Given the description of an element on the screen output the (x, y) to click on. 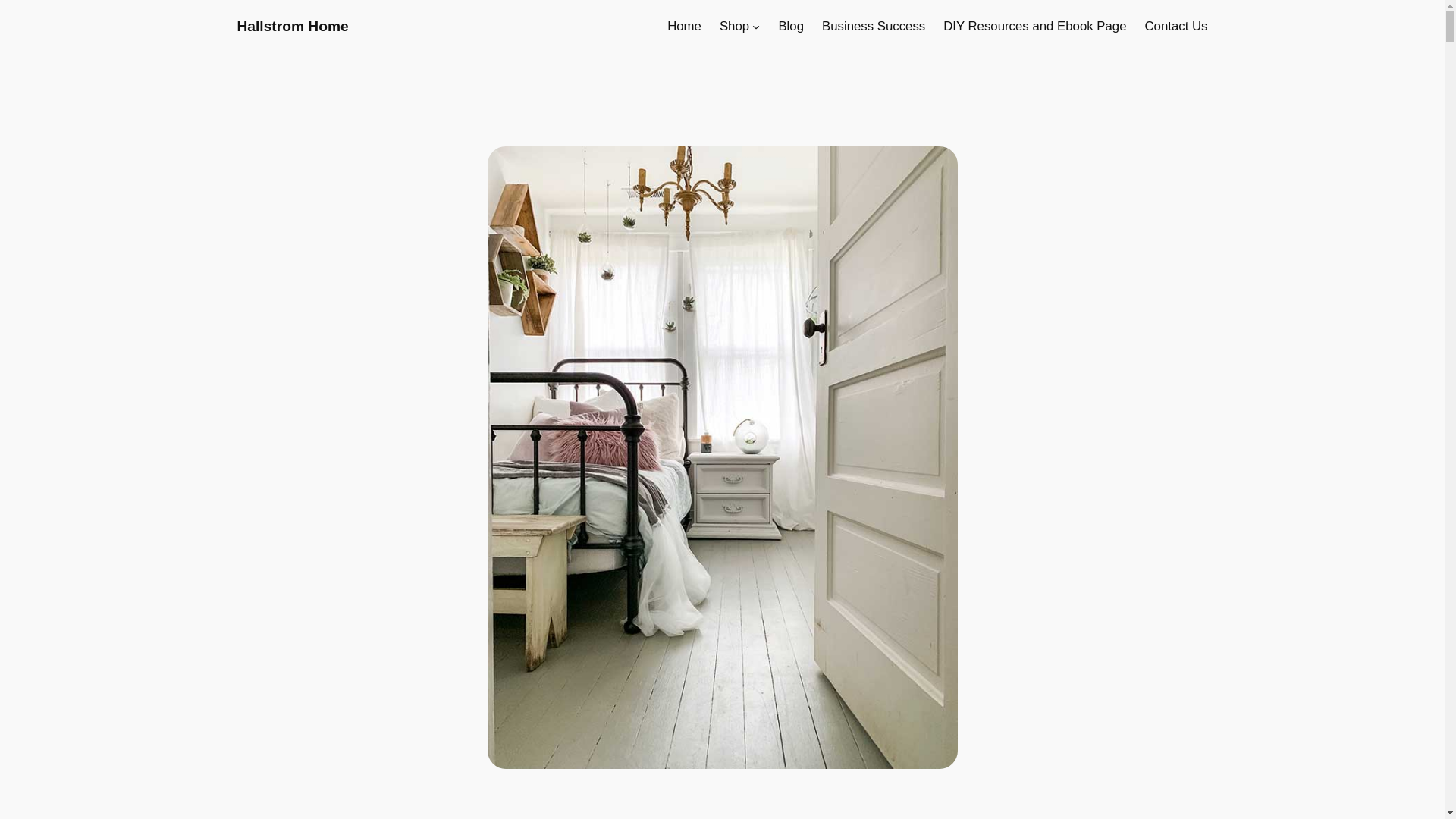
Business Success (873, 26)
Home (683, 26)
Shop (734, 26)
Contact Us (1175, 26)
Hallstrom Home (291, 26)
Blog (790, 26)
DIY Resources and Ebook Page (1034, 26)
